Given the description of an element on the screen output the (x, y) to click on. 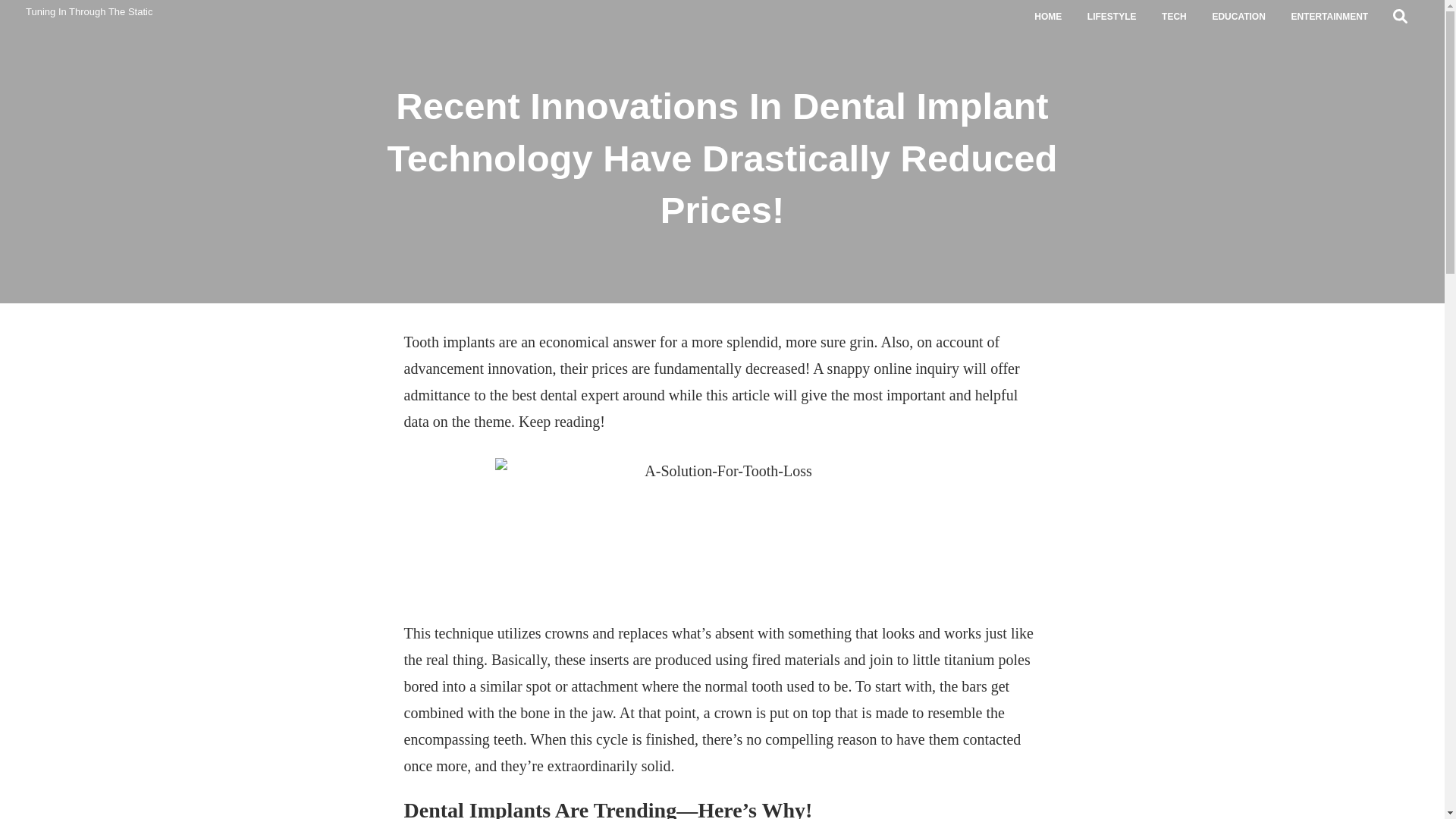
TECH (1173, 17)
HOME (1048, 17)
EDUCATION (1238, 17)
ENTERTAINMENT (1329, 17)
LIFESTYLE (1111, 17)
